Given the description of an element on the screen output the (x, y) to click on. 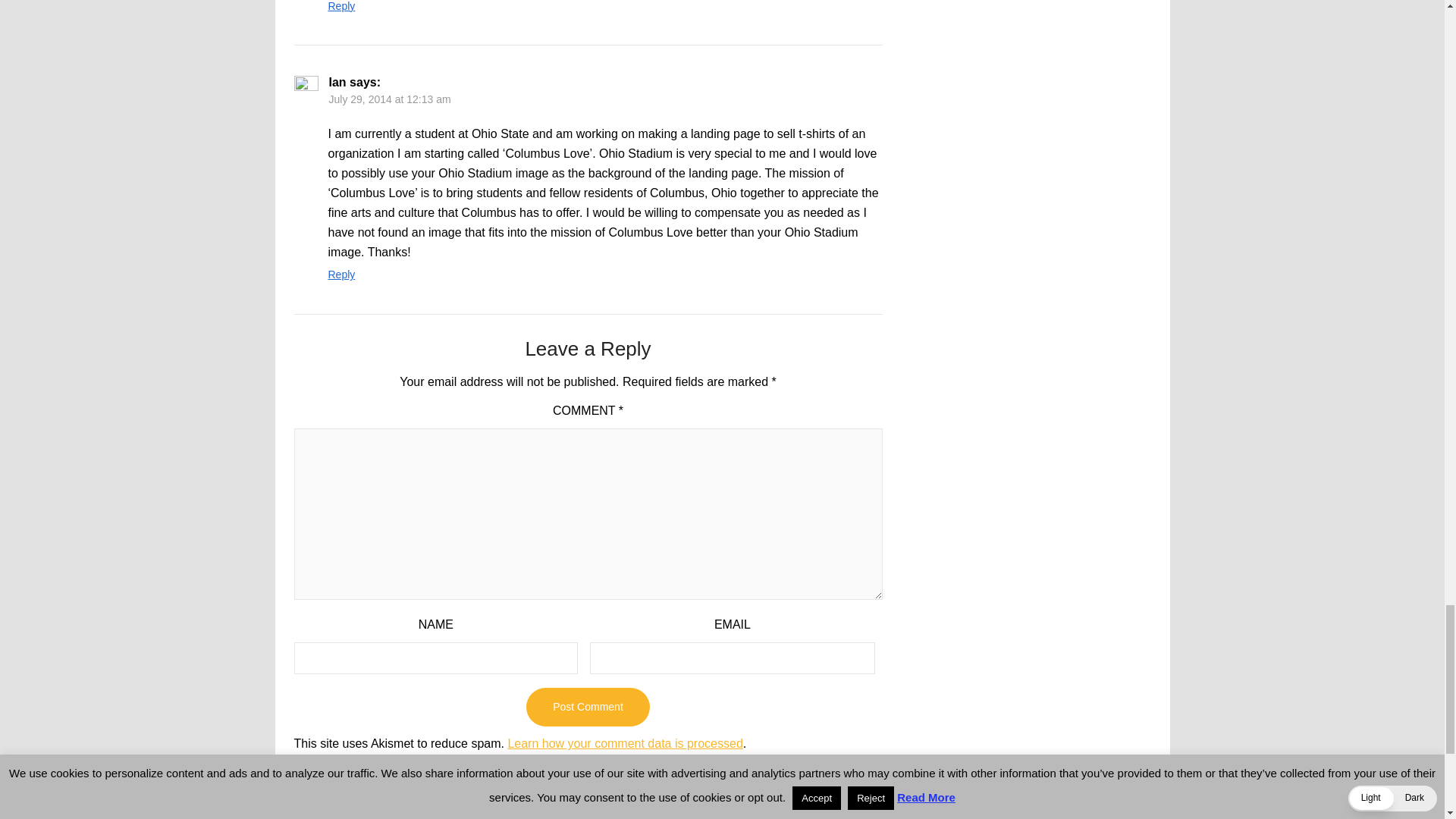
July 29, 2014 at 12:13 am (390, 99)
Post Comment (587, 706)
Learn how your comment data is processed (624, 743)
Post Comment (587, 706)
Reply (341, 274)
Reply (341, 6)
